Given the description of an element on the screen output the (x, y) to click on. 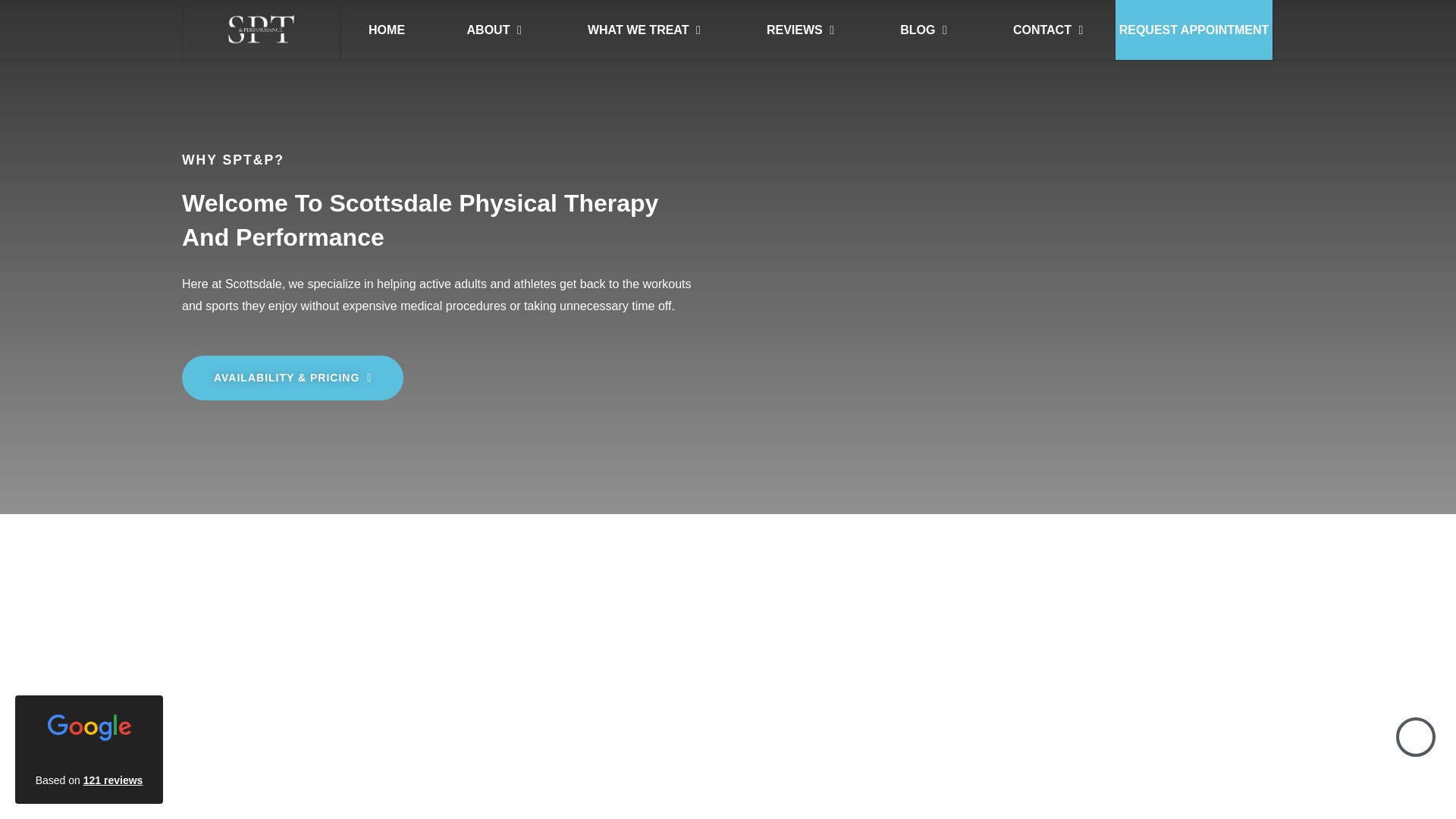
REQUEST APPOINTMENT (1194, 29)
HOME (386, 30)
